Given the description of an element on the screen output the (x, y) to click on. 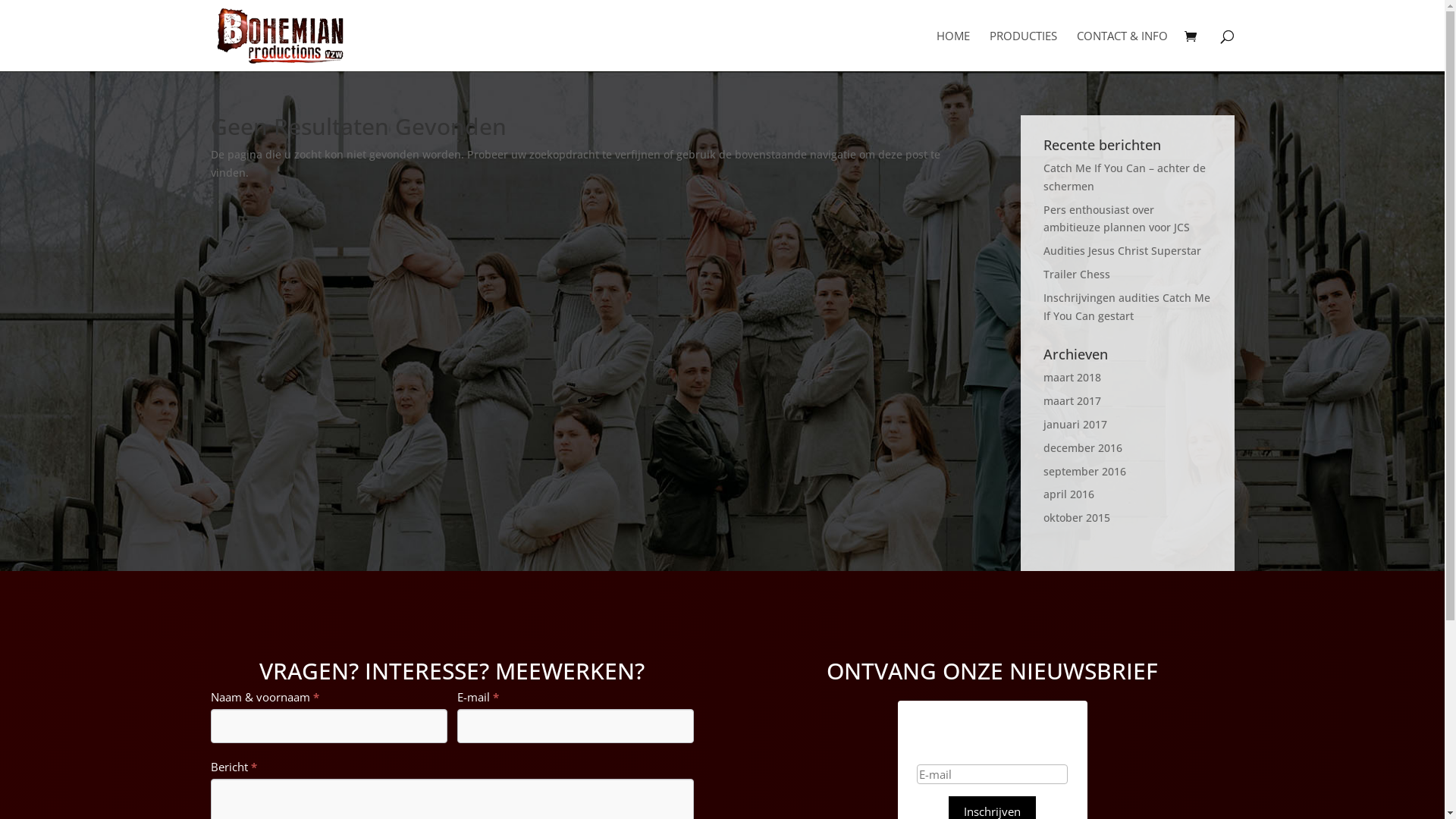
maart 2017 Element type: text (1072, 400)
april 2016 Element type: text (1068, 493)
Pers enthousiast over ambitieuze plannen voor JCS Element type: text (1116, 218)
CONTACT & INFO Element type: text (1121, 50)
HOME Element type: text (952, 50)
Audities Jesus Christ Superstar Element type: text (1122, 250)
Inschrijvingen audities Catch Me If You Can gestart Element type: text (1126, 306)
maart 2018 Element type: text (1072, 377)
januari 2017 Element type: text (1075, 424)
september 2016 Element type: text (1084, 471)
oktober 2015 Element type: text (1076, 517)
december 2016 Element type: text (1082, 447)
Trailer Chess Element type: text (1076, 273)
PRODUCTIES Element type: text (1022, 50)
